Given the description of an element on the screen output the (x, y) to click on. 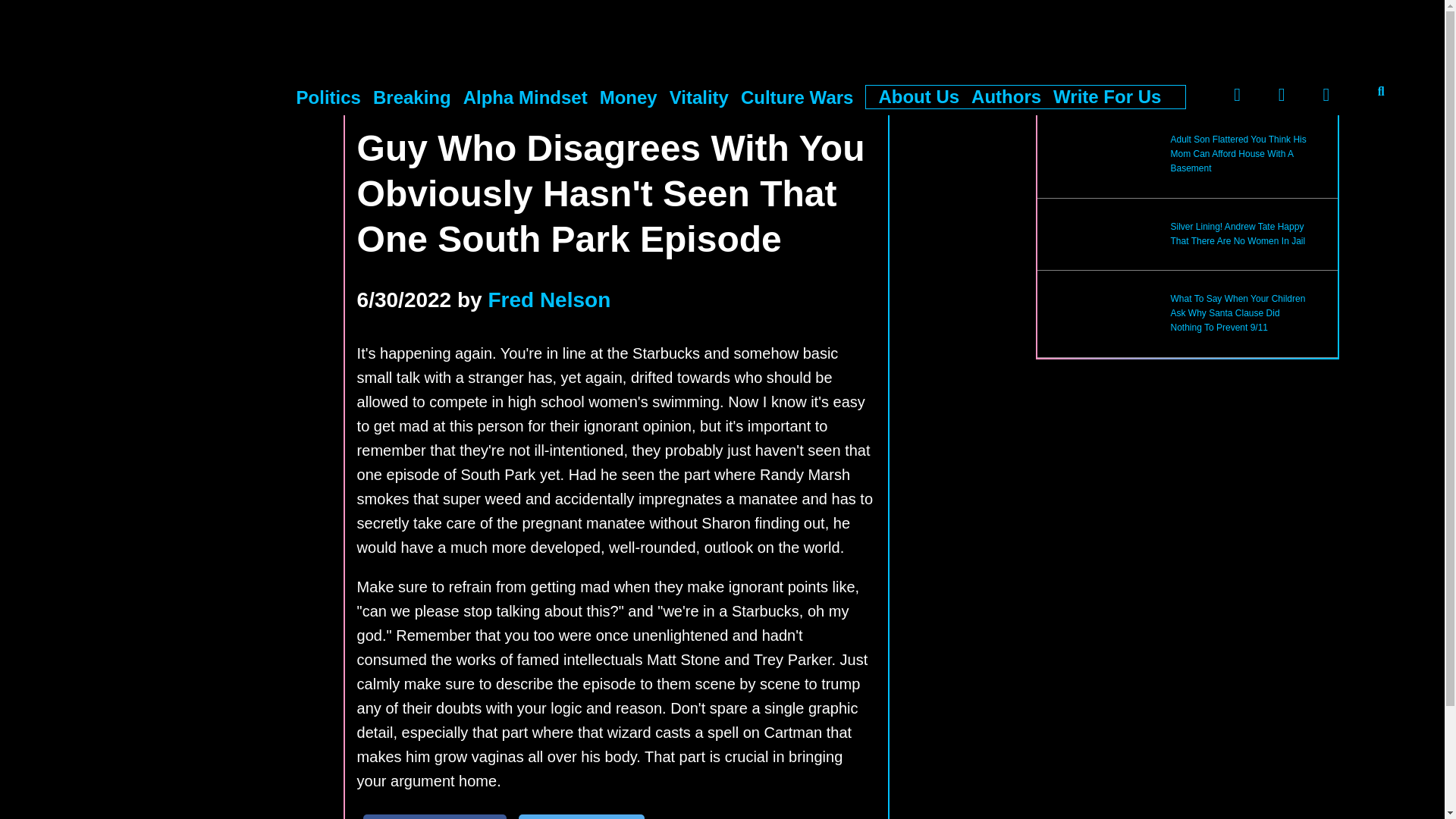
Money (628, 97)
Culture Wars (797, 97)
Share On Facebook (434, 816)
Authors (1006, 96)
Alpha Mindset (525, 97)
Politics (329, 97)
Fred Nelson (548, 300)
Vitality (699, 97)
Breaking (411, 97)
Write For Us (1106, 96)
Share On Twitter (581, 816)
About Us (918, 96)
